Given the description of an element on the screen output the (x, y) to click on. 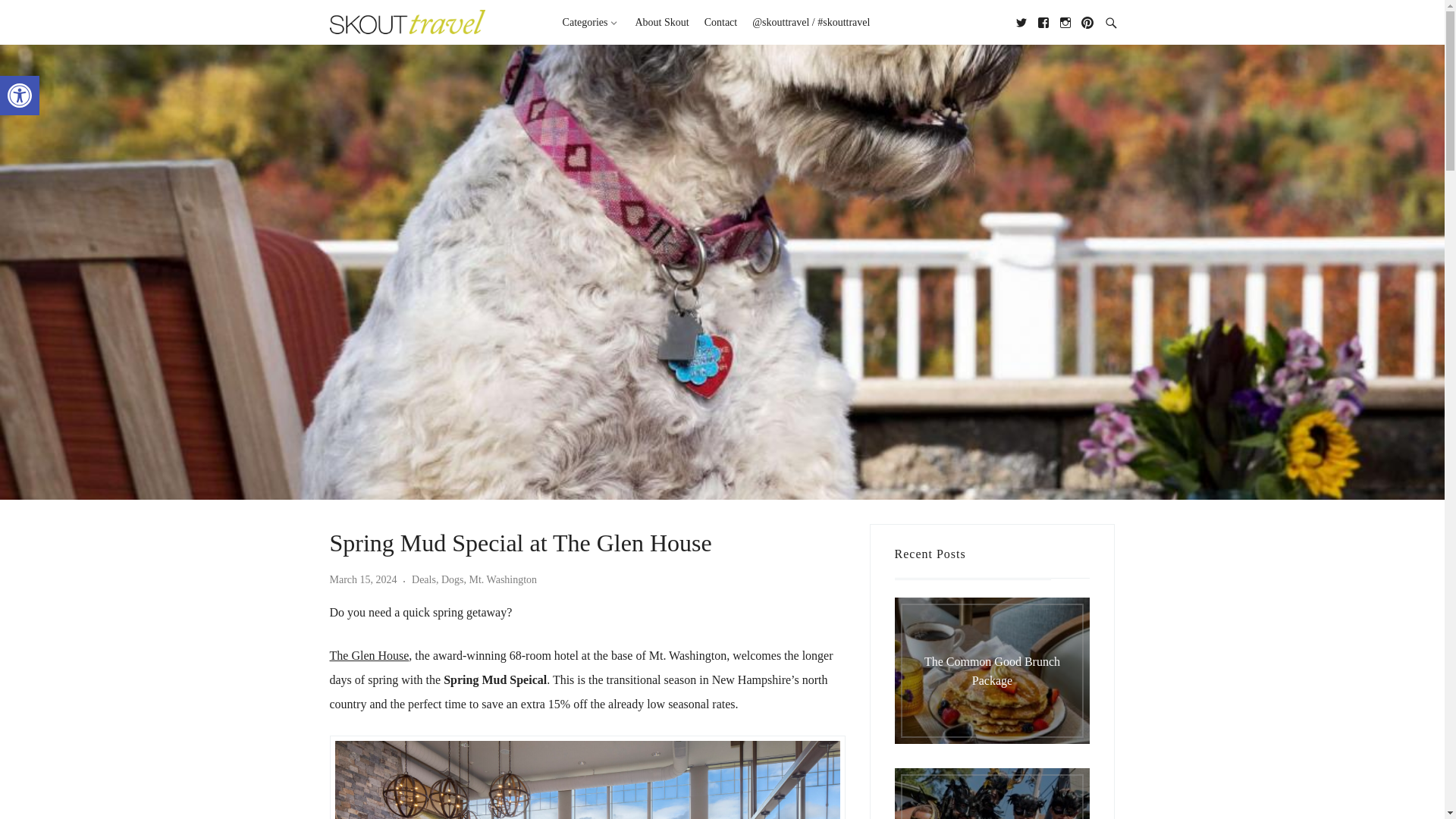
Categories (591, 26)
SkoutTravel (417, 21)
The Glen House (369, 655)
Deals (423, 579)
GlenHouse 1 01 1 scaled (587, 780)
Facebook (1038, 21)
Accessibility Tools (19, 95)
Twitter (1018, 21)
Accessibility Tools (19, 95)
Dogs (452, 579)
